Given the description of an element on the screen output the (x, y) to click on. 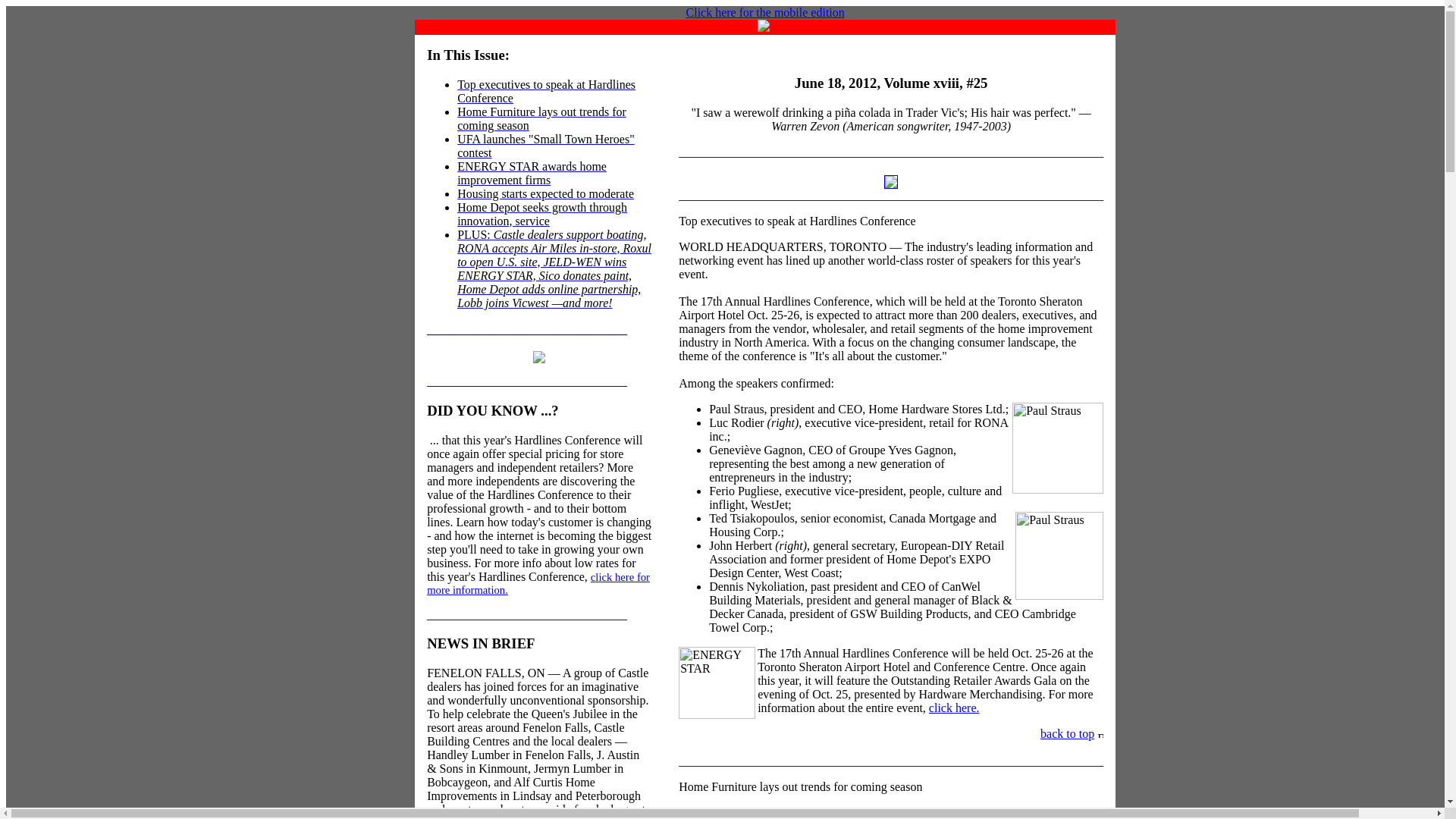
Top executives to speak at Hardlines Conference (545, 90)
Housing starts expected to moderate (545, 193)
Home Furniture lays out trends for coming season (541, 118)
click here. (953, 707)
UFA launches "Small Town Heroes" contest (545, 145)
back to top (1067, 733)
Click here for the mobile edition (764, 11)
click here for more information. (537, 583)
Home Depot seeks growth through innovation, service (542, 213)
ENERGY STAR awards home improvement firms (532, 172)
